Given the description of an element on the screen output the (x, y) to click on. 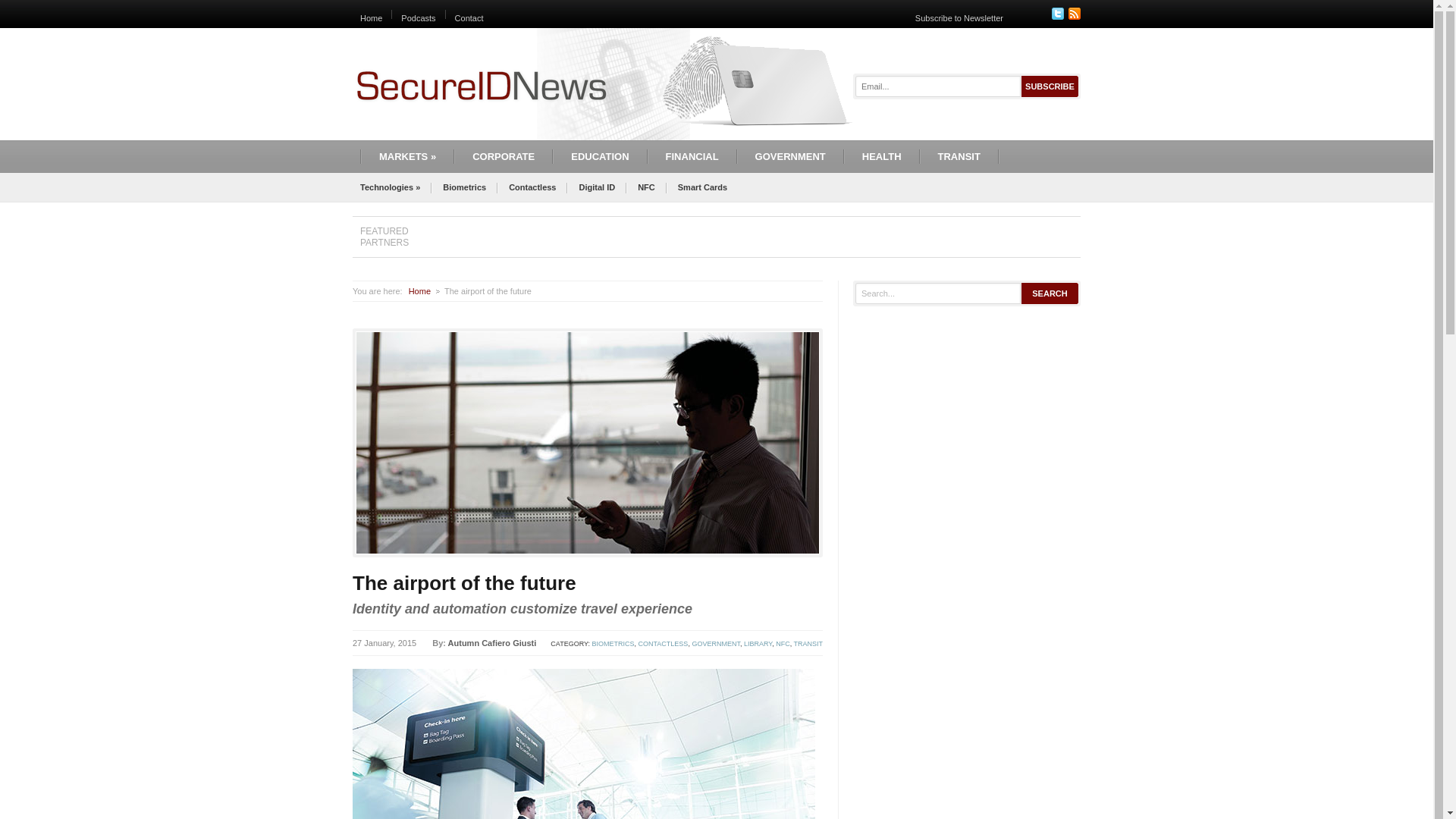
GOVERNMENT (715, 643)
Contact (468, 17)
Digital ID (596, 187)
Autumn Cafiero Giusti (492, 642)
RSS (1074, 13)
Subscribe to Newsletter (959, 17)
EDUCATION (599, 156)
Search (1049, 293)
Twitter (1057, 13)
SecureIDNews (481, 85)
